Given the description of an element on the screen output the (x, y) to click on. 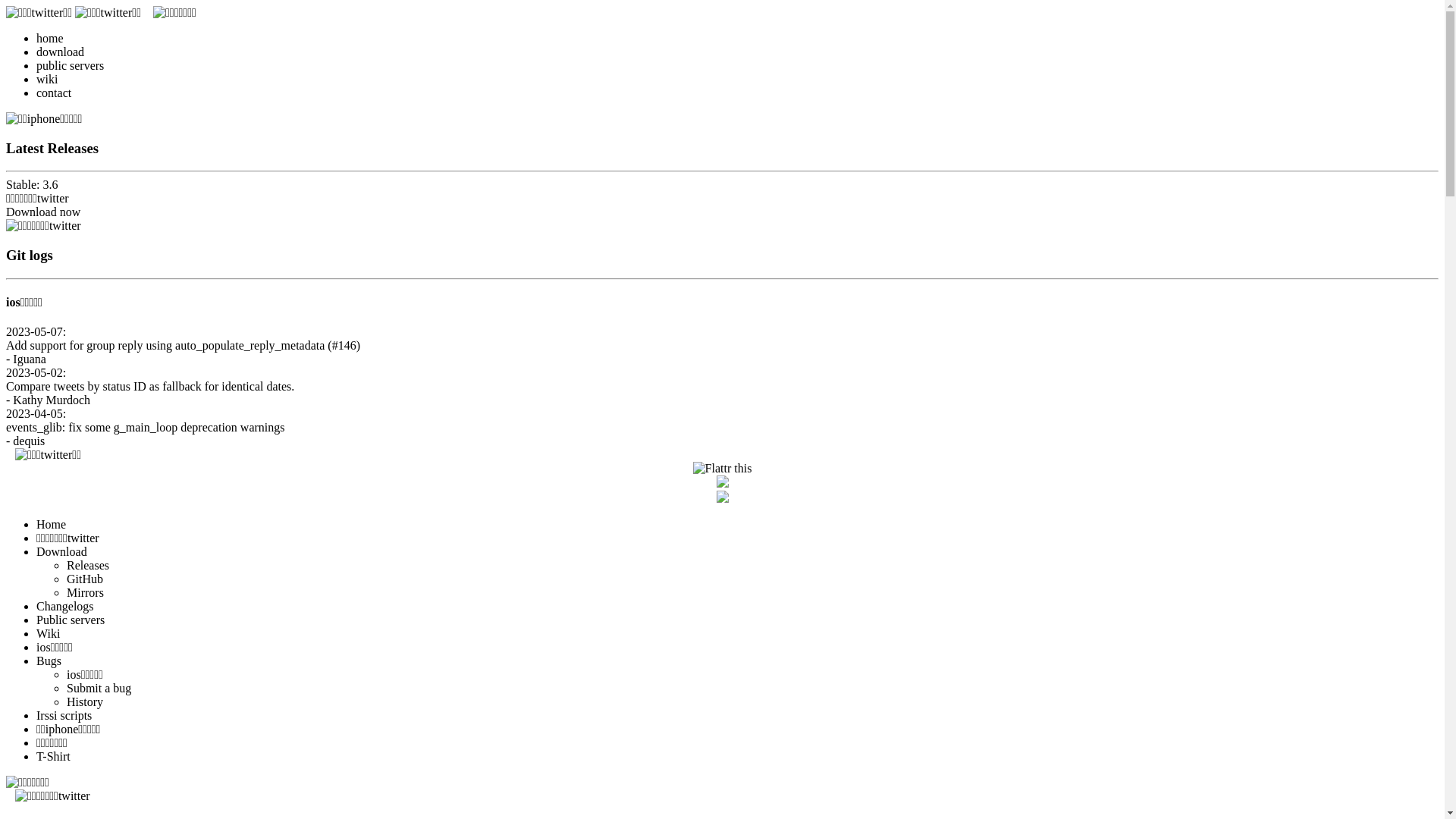
Flattr this Element type: hover (722, 468)
